Given the description of an element on the screen output the (x, y) to click on. 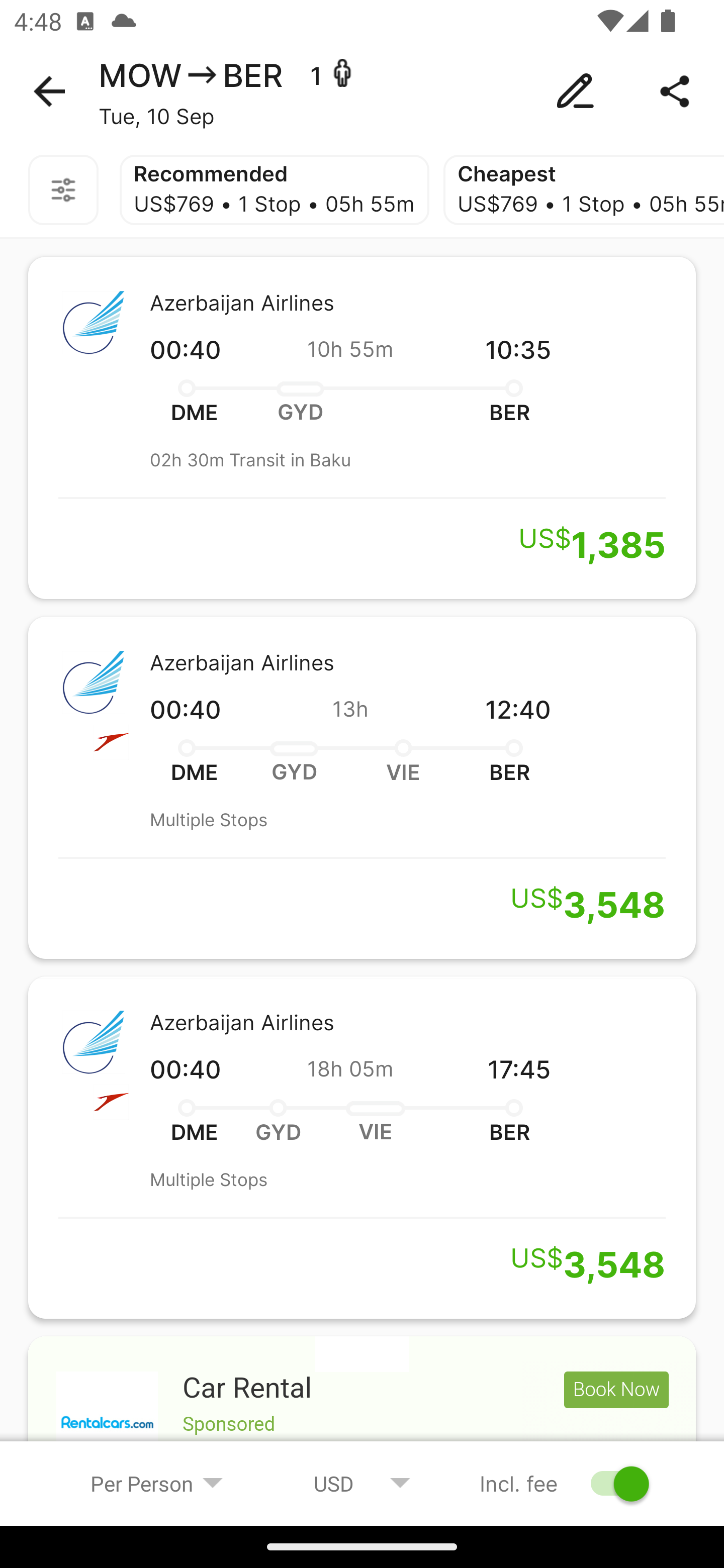
MOW BER   1 - Tue, 10 Sep (361, 91)
Recommended  US$769 • 1 Stop • 05h 55m (274, 190)
Cheapest US$769 • 1 Stop • 05h 55m (583, 190)
Per Person (156, 1482)
USD (361, 1482)
